Given the description of an element on the screen output the (x, y) to click on. 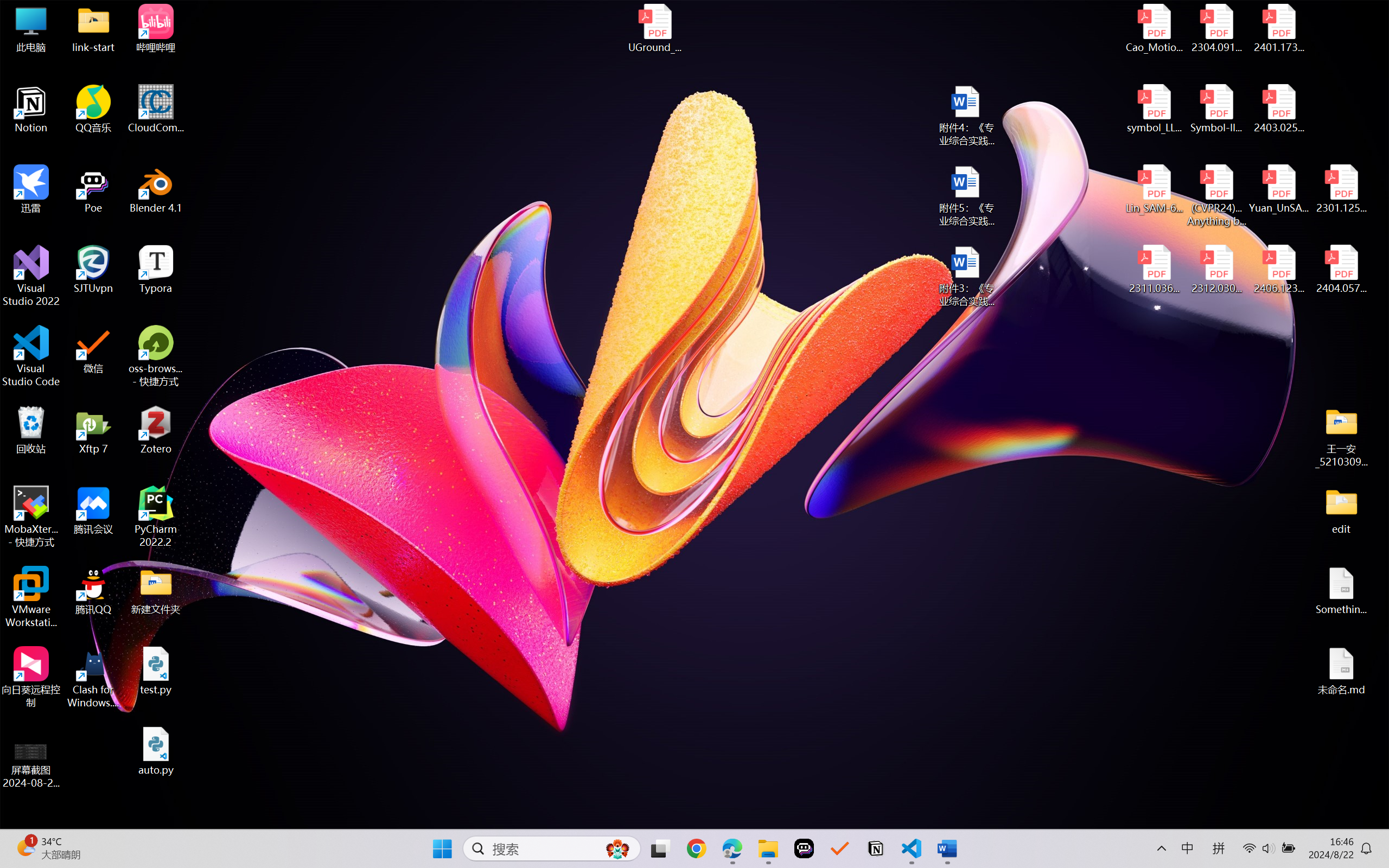
Visual Studio Code (31, 355)
UGround_paper.pdf (654, 28)
Something.md (1340, 591)
Visual Studio 2022 (31, 276)
edit (1340, 510)
